Given the description of an element on the screen output the (x, y) to click on. 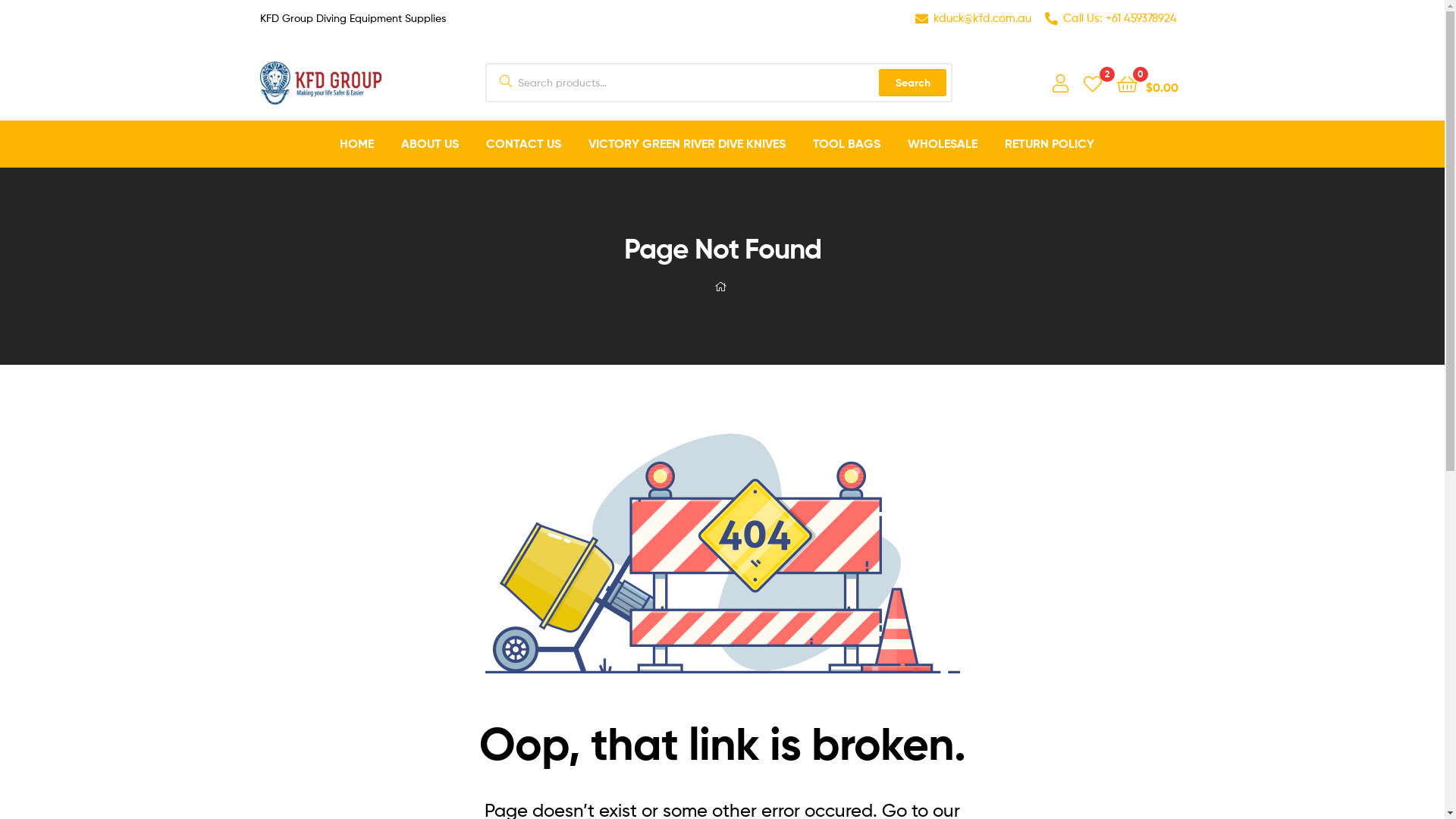
Call Us: +61 459378924 Element type: text (1109, 18)
2 Element type: text (1092, 82)
RETURN POLICY Element type: text (1049, 143)
ABOUT US Element type: text (429, 143)
HOME Element type: text (356, 143)
WHOLESALE Element type: text (942, 143)
TOOL BAGS Element type: text (846, 143)
0
$0.00 Element type: text (1147, 82)
Search Element type: text (912, 82)
kduck@kfd.com.au Element type: text (972, 18)
VICTORY GREEN RIVER DIVE KNIVES Element type: text (686, 143)
CONTACT US Element type: text (523, 143)
